Given the description of an element on the screen output the (x, y) to click on. 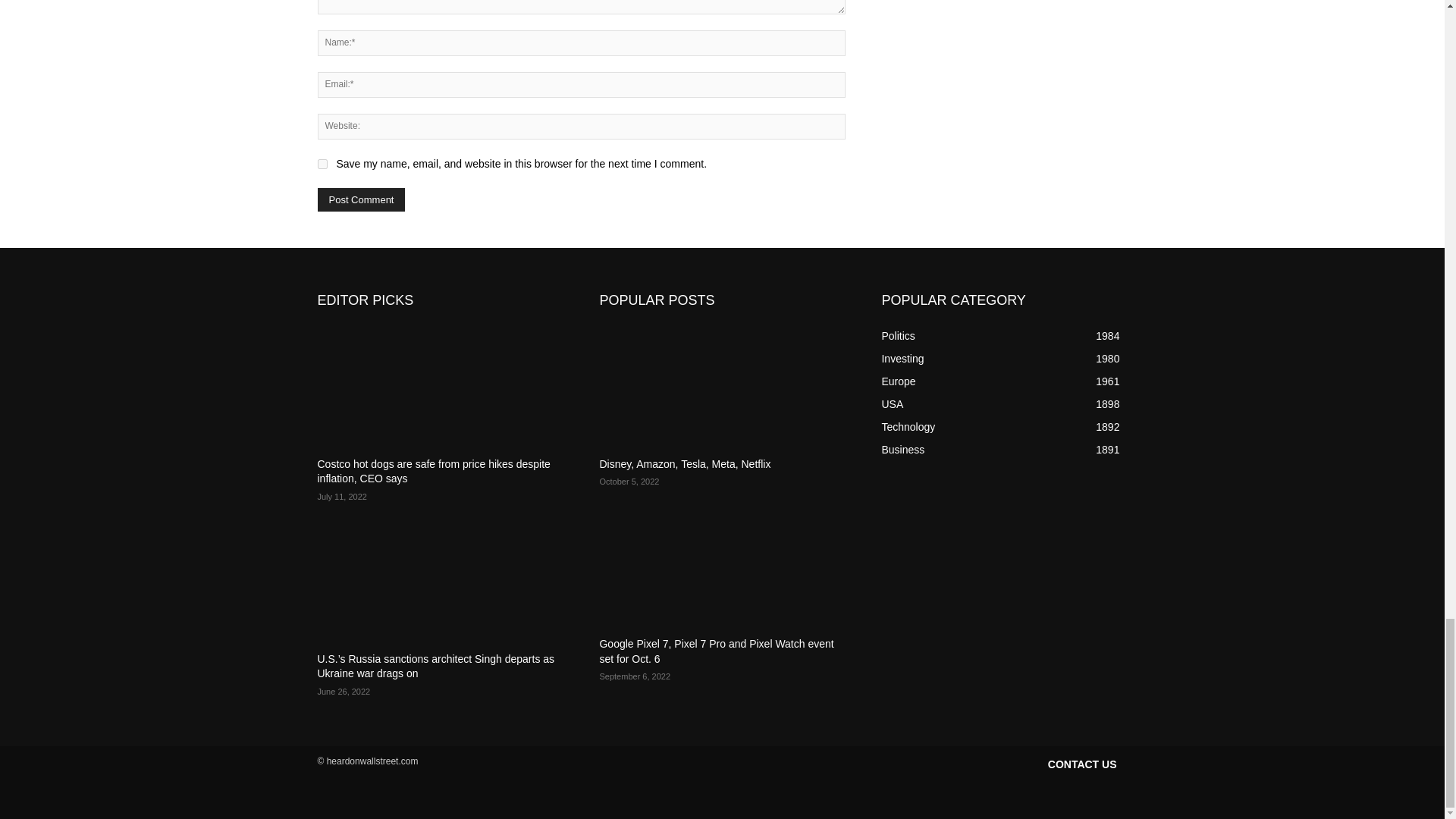
Post Comment (360, 199)
yes (321, 163)
